Given the description of an element on the screen output the (x, y) to click on. 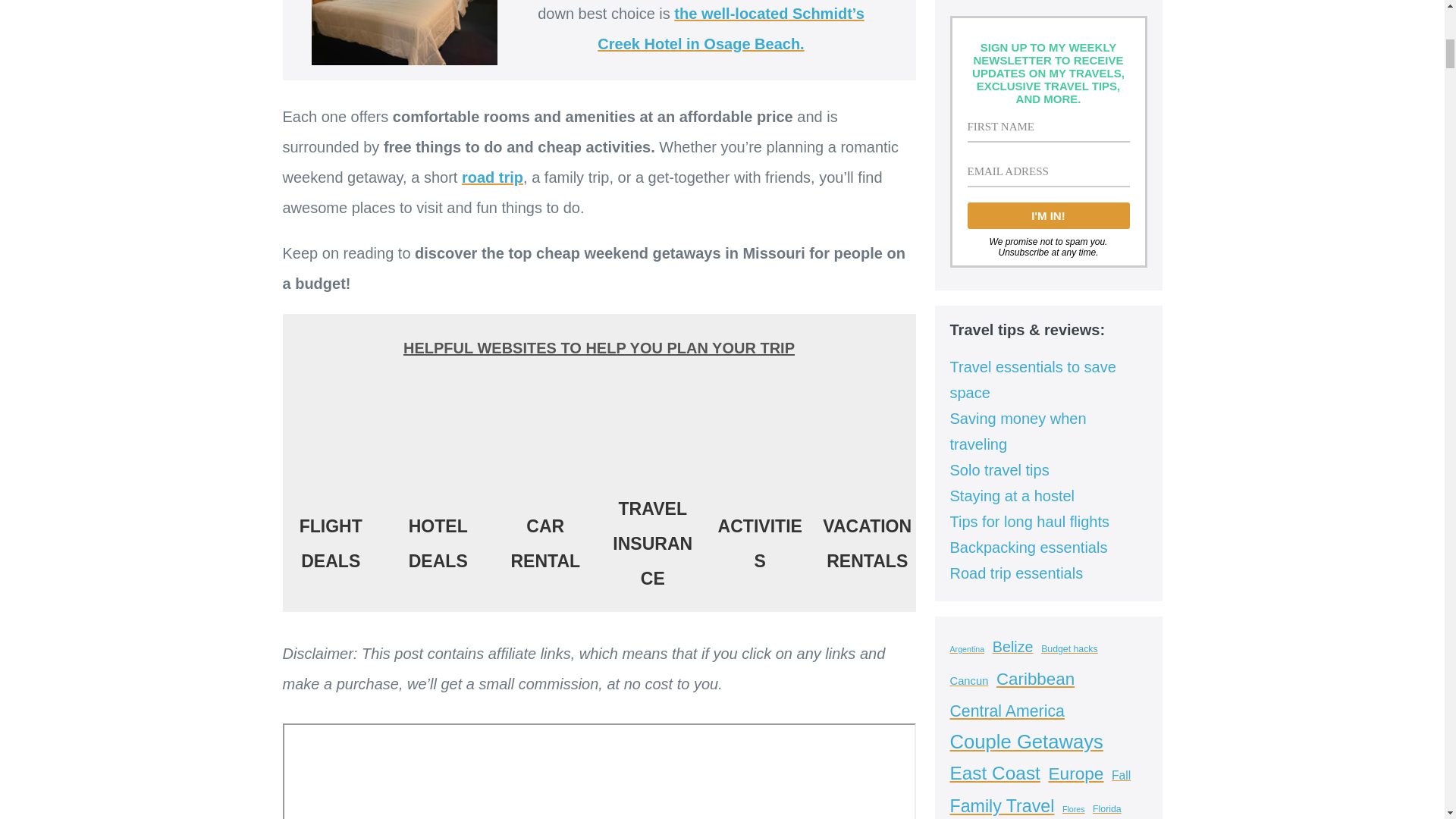
I'M IN! (1048, 215)
